Given the description of an element on the screen output the (x, y) to click on. 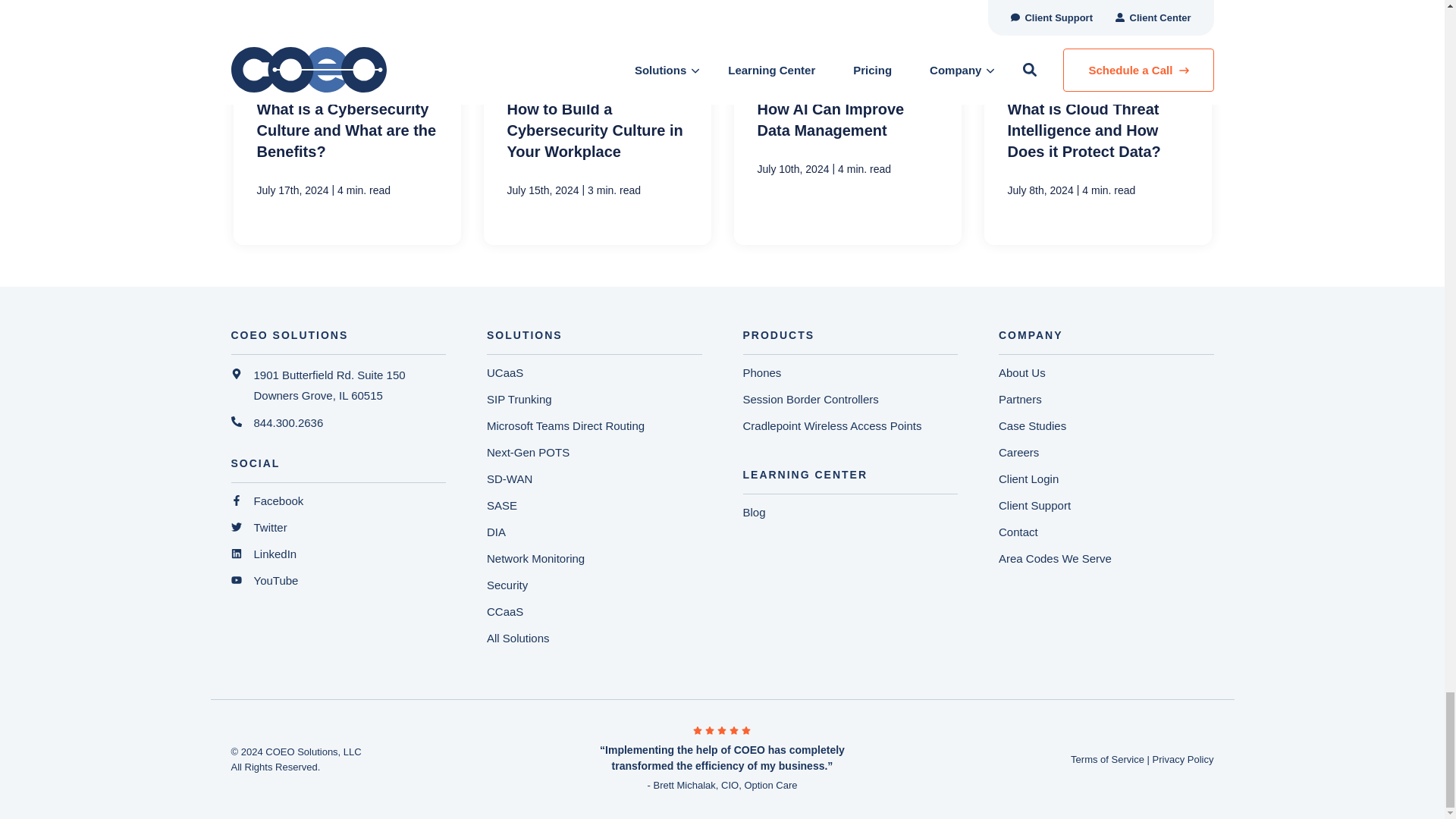
How to Build a Cybersecurity Culture in Your Workplace (597, 122)
How AI Can Improve Data Management (846, 122)
What is a Cybersecurity Culture and What are the Benefits? (346, 122)
